Given the description of an element on the screen output the (x, y) to click on. 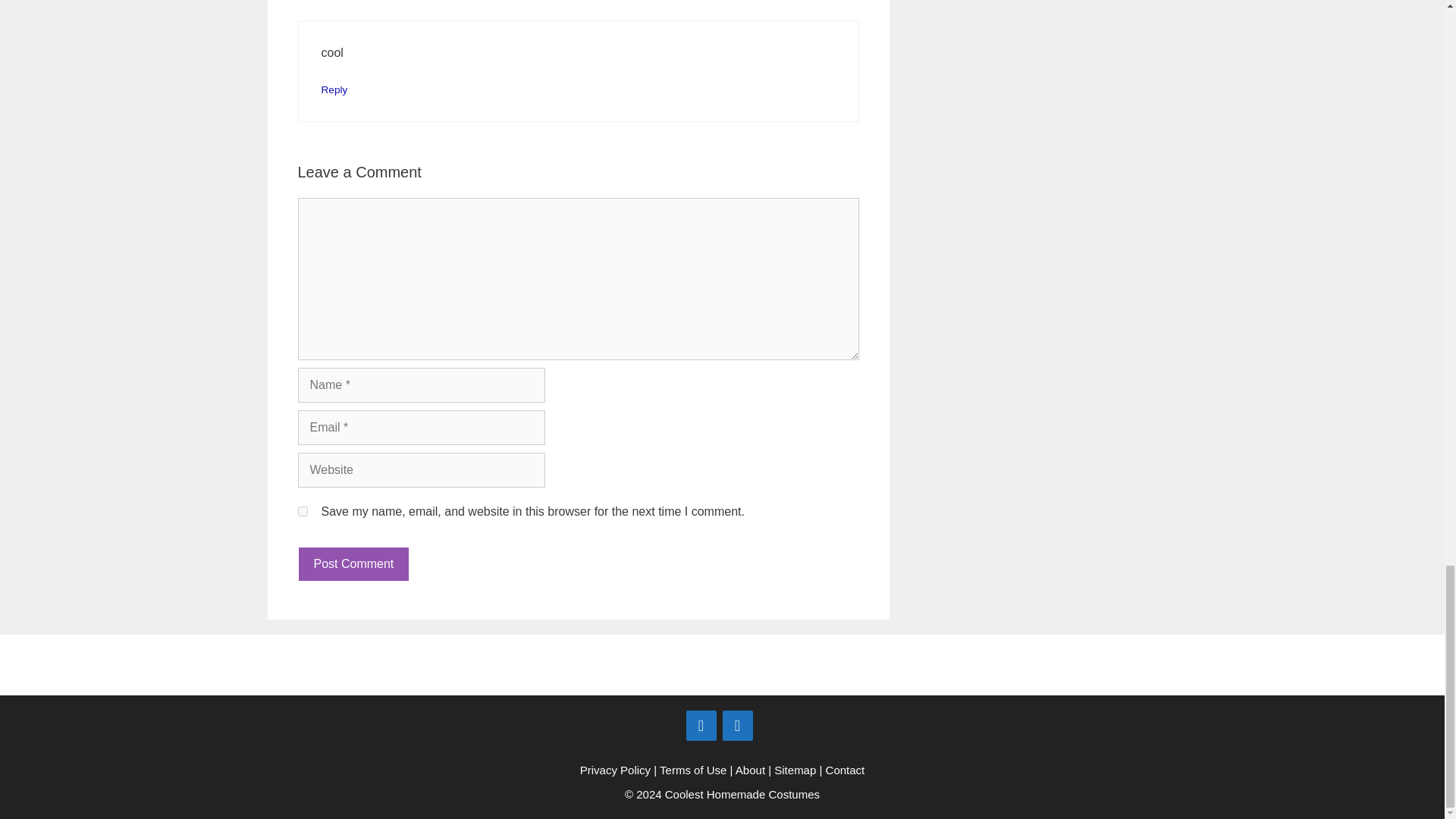
Post Comment (353, 563)
yes (302, 511)
Instagram (737, 725)
Facebook (700, 725)
